Given the description of an element on the screen output the (x, y) to click on. 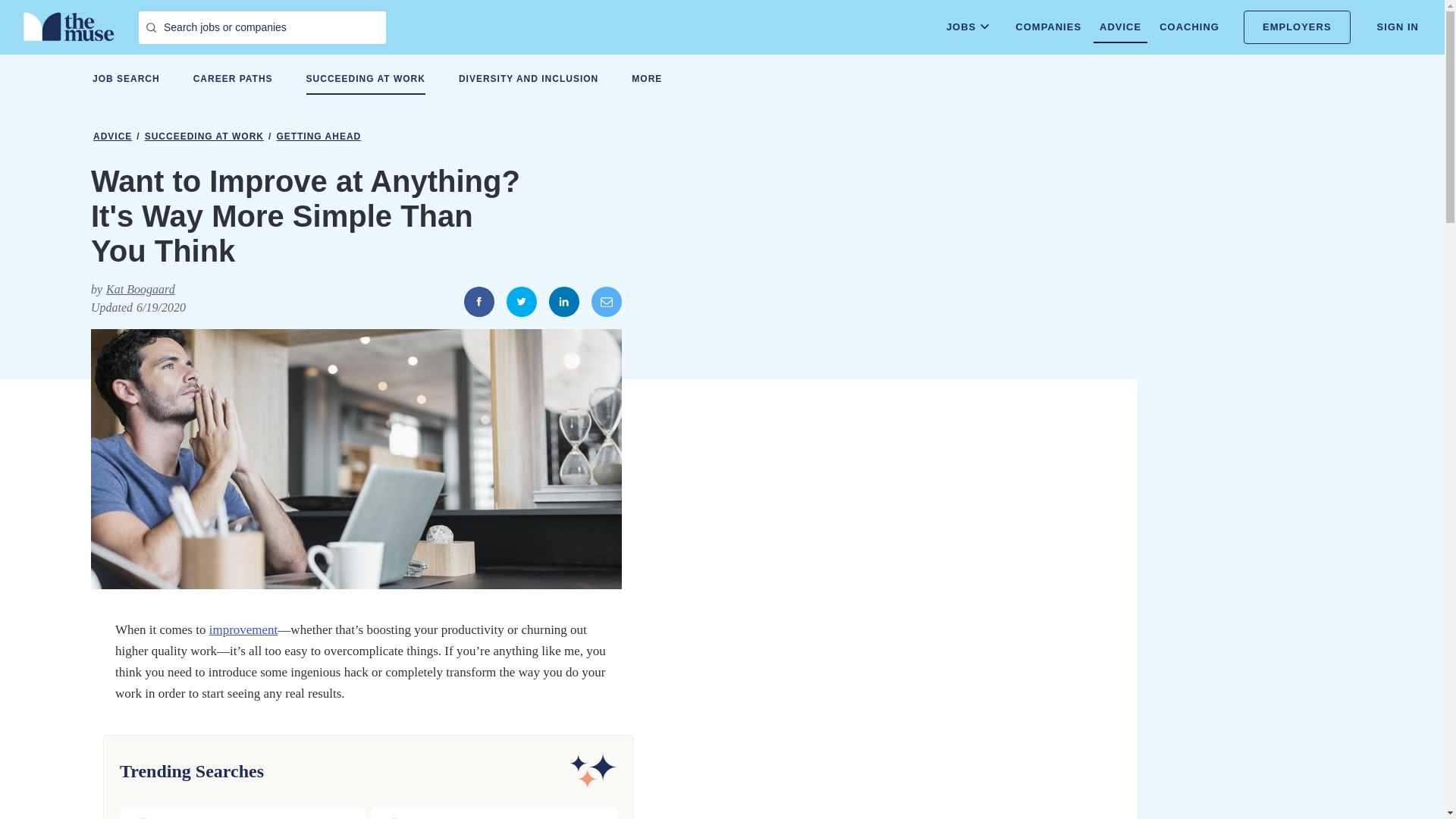
ADVICE (1120, 27)
EMPLOYERS (1297, 27)
COACHING (1189, 27)
COMPANIES (1048, 27)
SIGN IN (1398, 27)
